Given the description of an element on the screen output the (x, y) to click on. 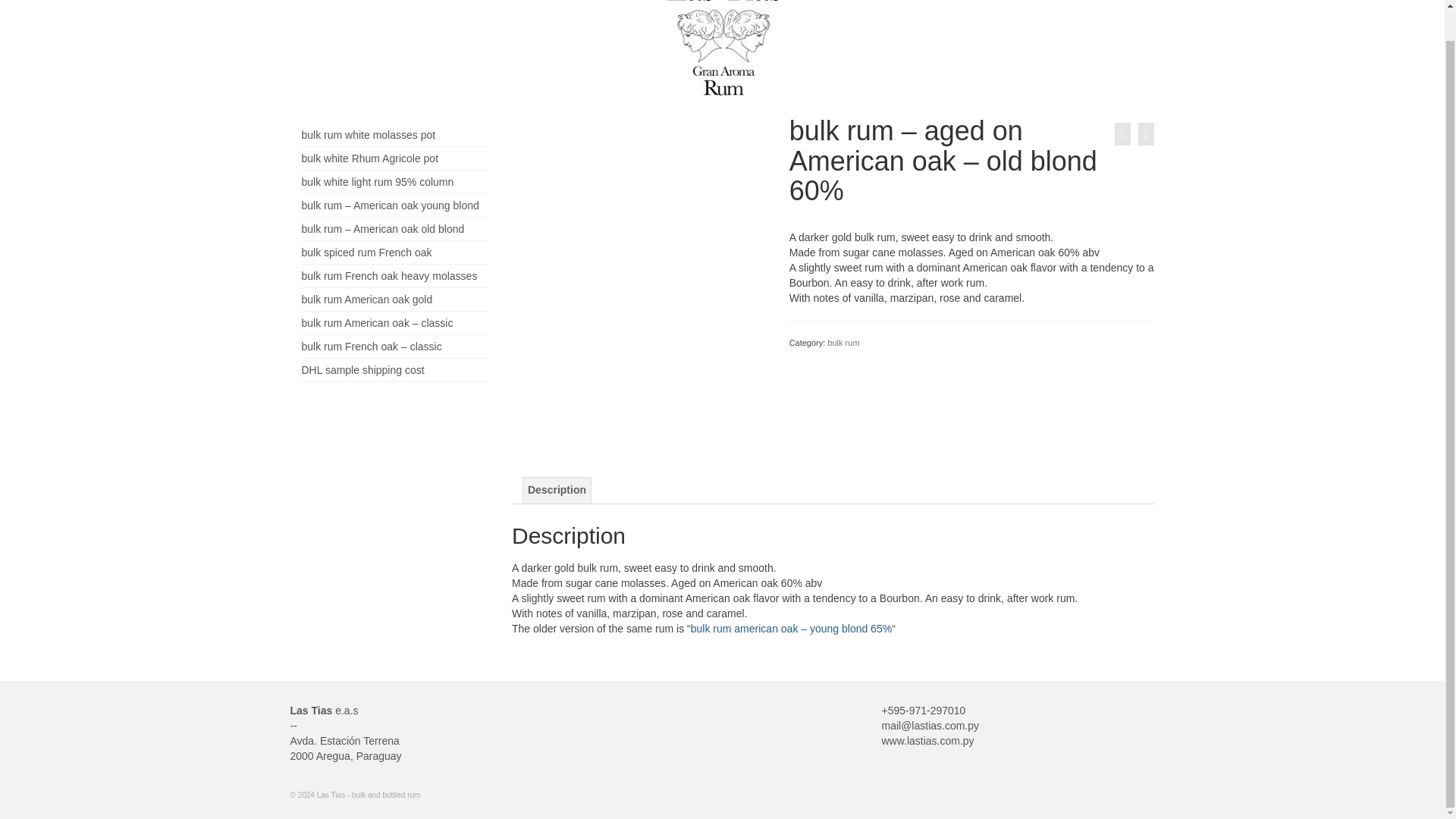
bulk rum French oak heavy molasses (389, 275)
bulk rum American oak gold (366, 299)
bulk white Rhum Agricole pot (370, 158)
bulk rum (843, 342)
Description (556, 490)
bulk rum white molasses pot (368, 134)
www.lastias.com.py (927, 740)
bulk spiced rum French oak (366, 252)
DHL sample shipping cost (363, 369)
